Given the description of an element on the screen output the (x, y) to click on. 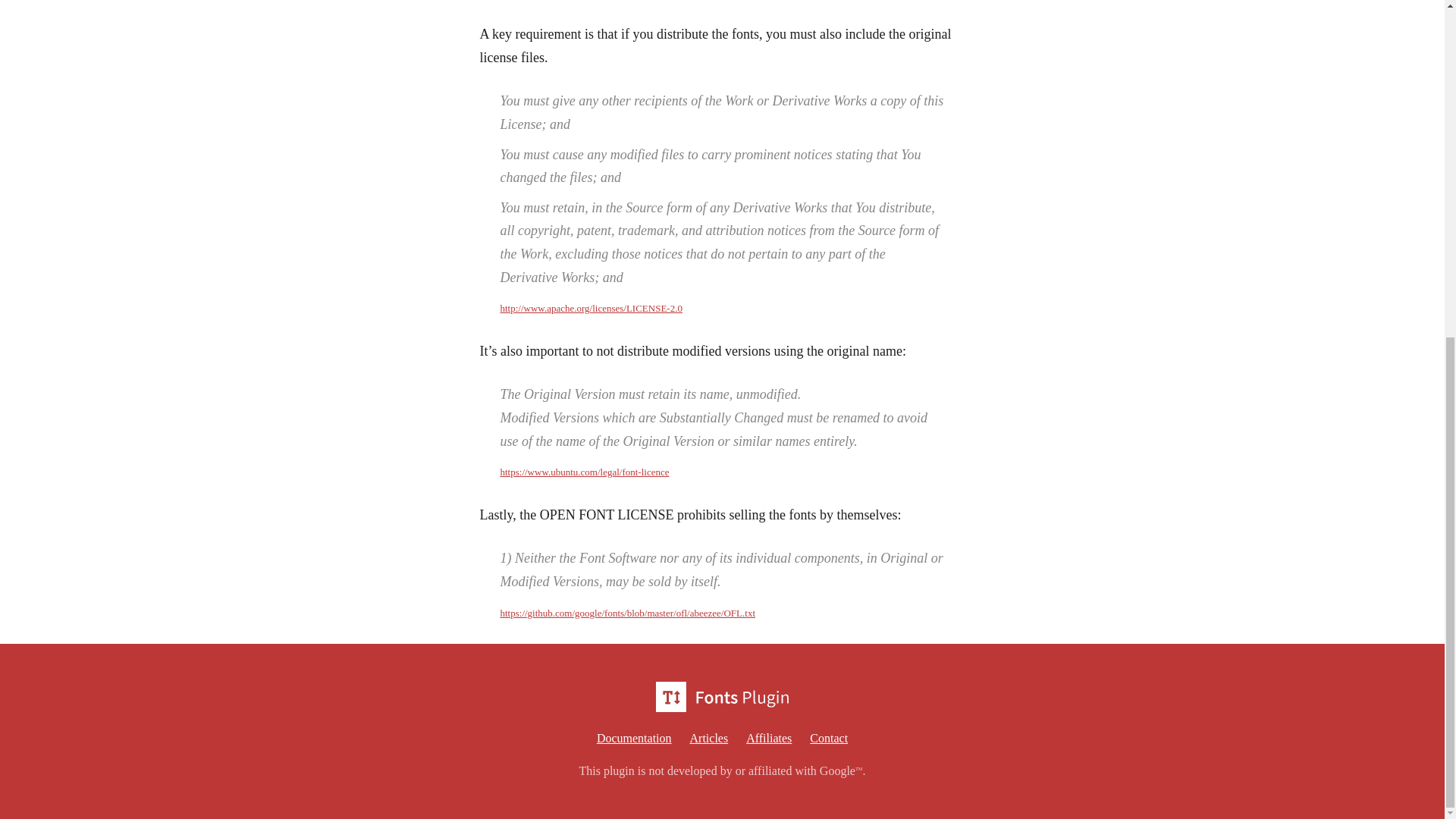
Documentation (634, 737)
Articles (709, 737)
Contact (829, 737)
Affiliates (768, 737)
